Given the description of an element on the screen output the (x, y) to click on. 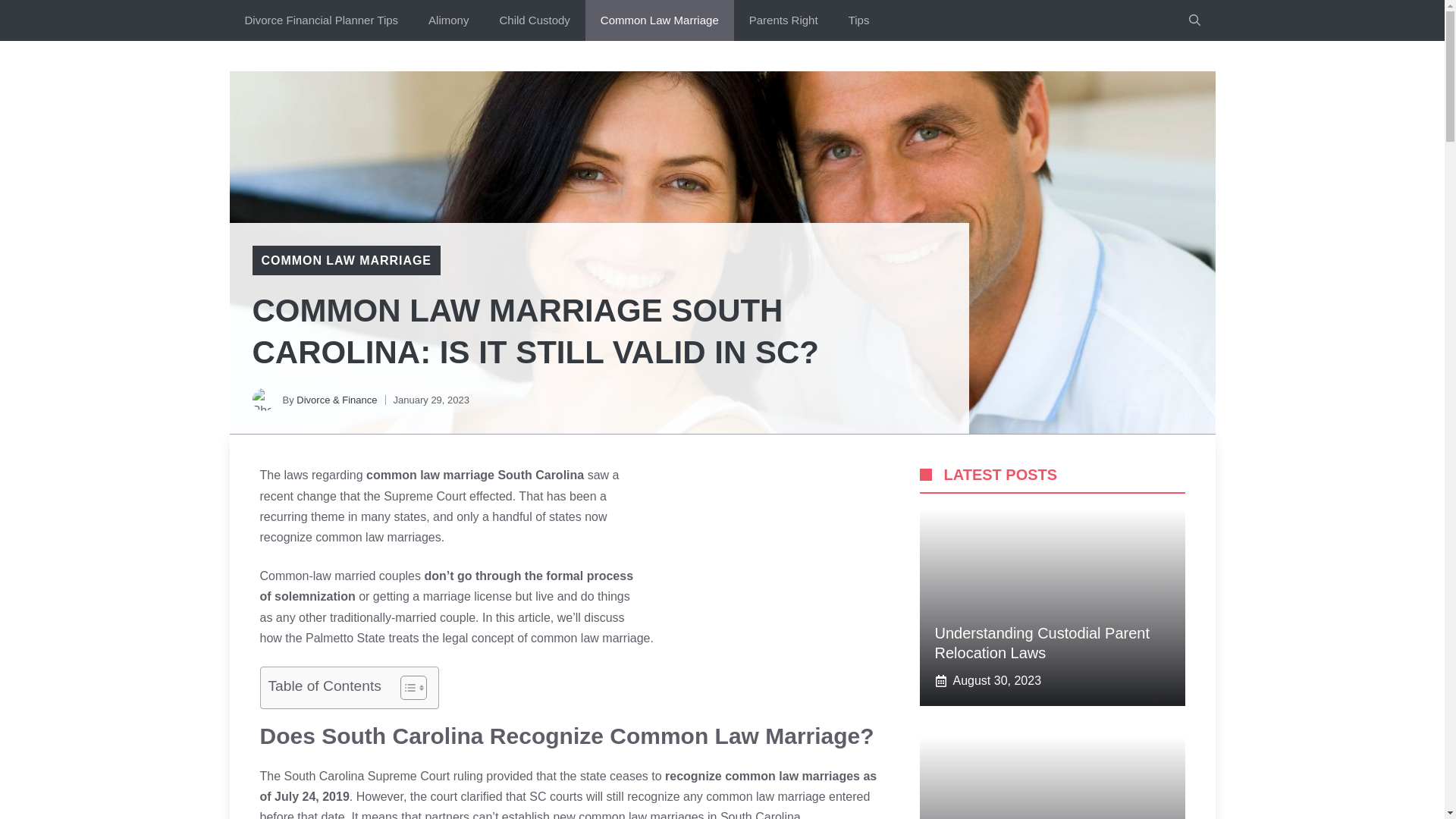
COMMON LAW MARRIAGE (345, 259)
Divorce Financial Planner Tips (320, 20)
Common law marriage south carolina tips (774, 540)
Child Custody (534, 20)
Common Law Marriage (659, 20)
Tips (858, 20)
recognize common law marriages (762, 775)
Parents Right (782, 20)
Alimony (448, 20)
recognize any common law marriage (726, 796)
